Given the description of an element on the screen output the (x, y) to click on. 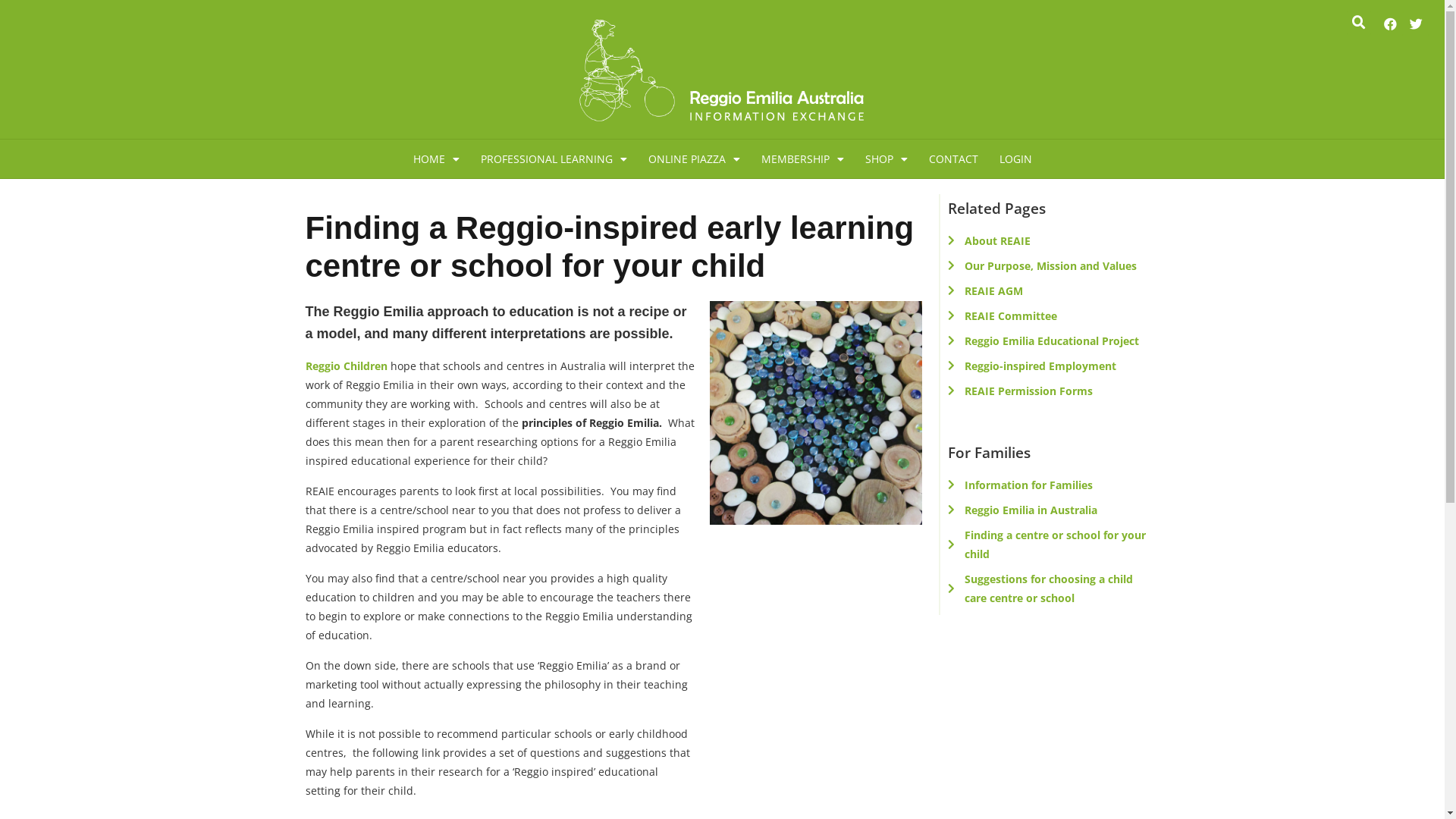
PROFESSIONAL LEARNING Element type: text (553, 158)
About REAIE Element type: text (1046, 240)
REAIE Committee Element type: text (1046, 315)
Reggio Emilia Educational Project Element type: text (1046, 340)
MEMBERSHIP Element type: text (802, 158)
Information for Families Element type: text (1046, 484)
Finding a centre or school for your child Element type: text (1046, 544)
Suggestions for choosing a child care centre or school Element type: text (1046, 588)
REAIE Permission Forms Element type: text (1046, 390)
SHOP Element type: text (885, 158)
REAIE AGM Element type: text (1046, 290)
LOGIN Element type: text (1015, 158)
Reggio Emilia in Australia Element type: text (1046, 509)
Reggio Children Element type: text (345, 365)
HOME Element type: text (435, 158)
CONTACT Element type: text (952, 158)
Reggio-inspired Employment Element type: text (1046, 365)
ONLINE PIAZZA Element type: text (693, 158)
Our Purpose, Mission and Values Element type: text (1046, 265)
